Given the description of an element on the screen output the (x, y) to click on. 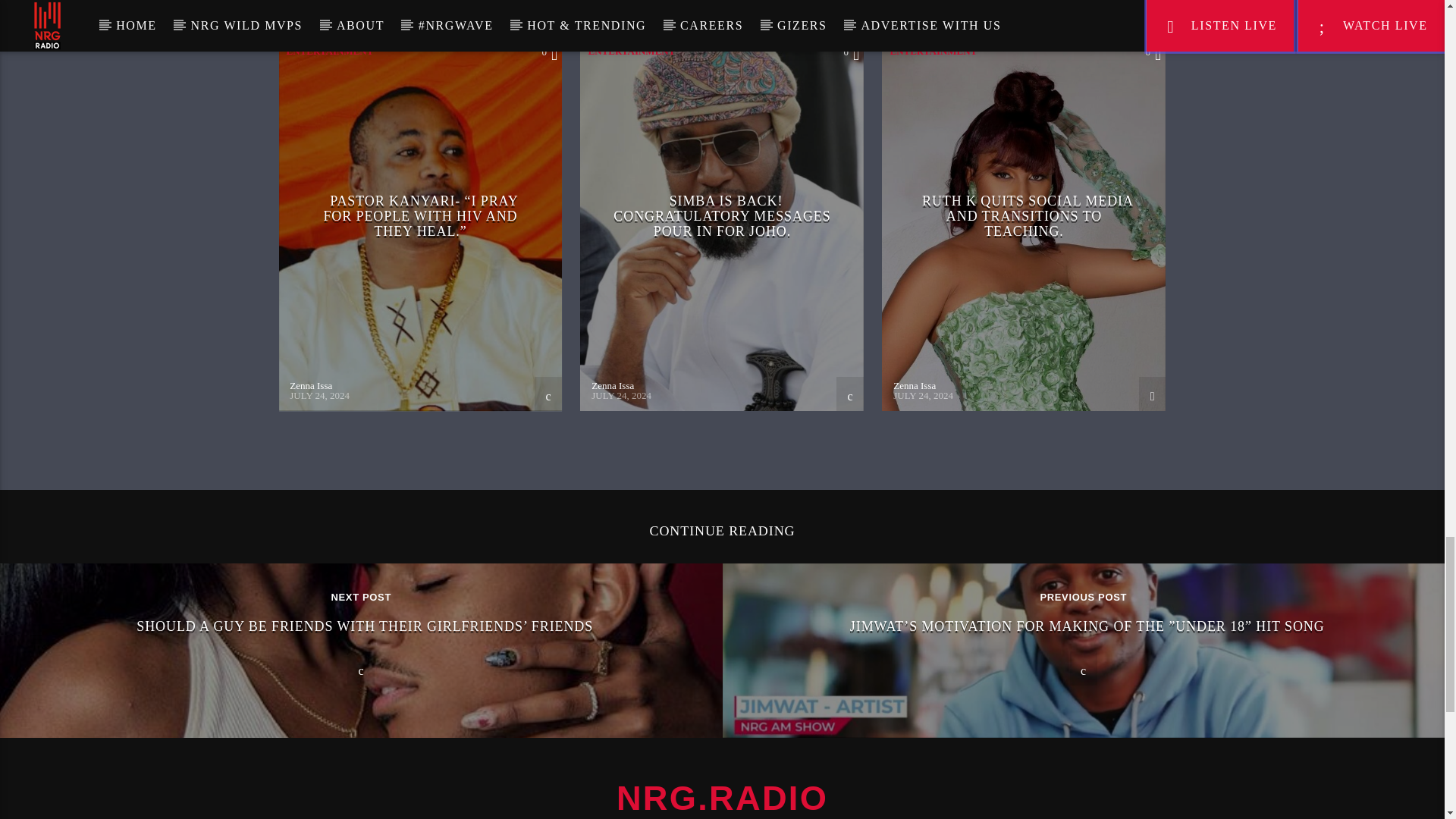
Posts by Zenna Issa (612, 385)
Posts by Zenna Issa (914, 385)
Posts by Zenna Issa (310, 385)
